Given the description of an element on the screen output the (x, y) to click on. 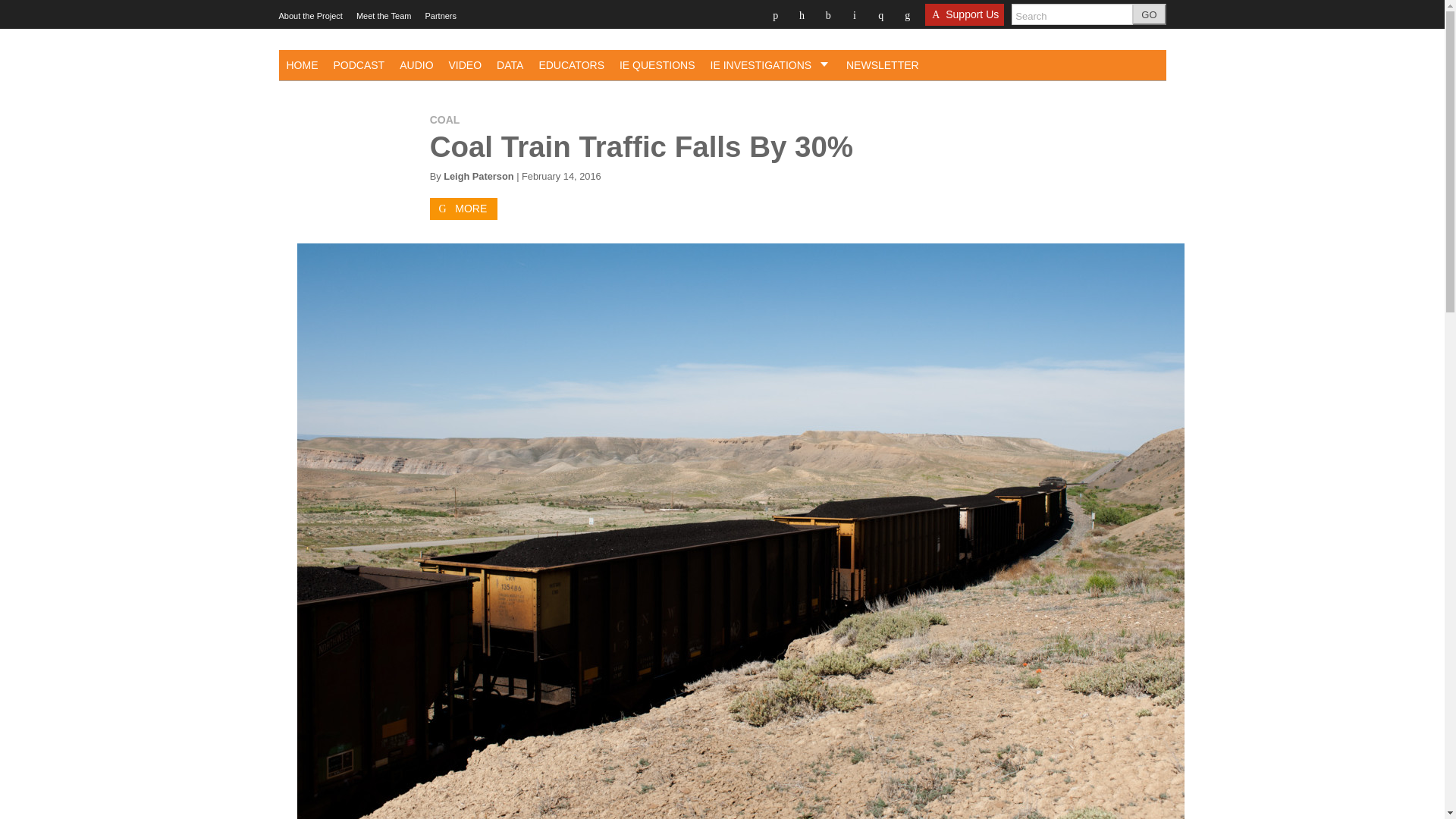
Skip to content (295, 18)
Skip to content (295, 18)
Partners (441, 15)
GO (1149, 14)
Support Us (964, 19)
About the Project (310, 15)
Meet the Team (384, 15)
